Given the description of an element on the screen output the (x, y) to click on. 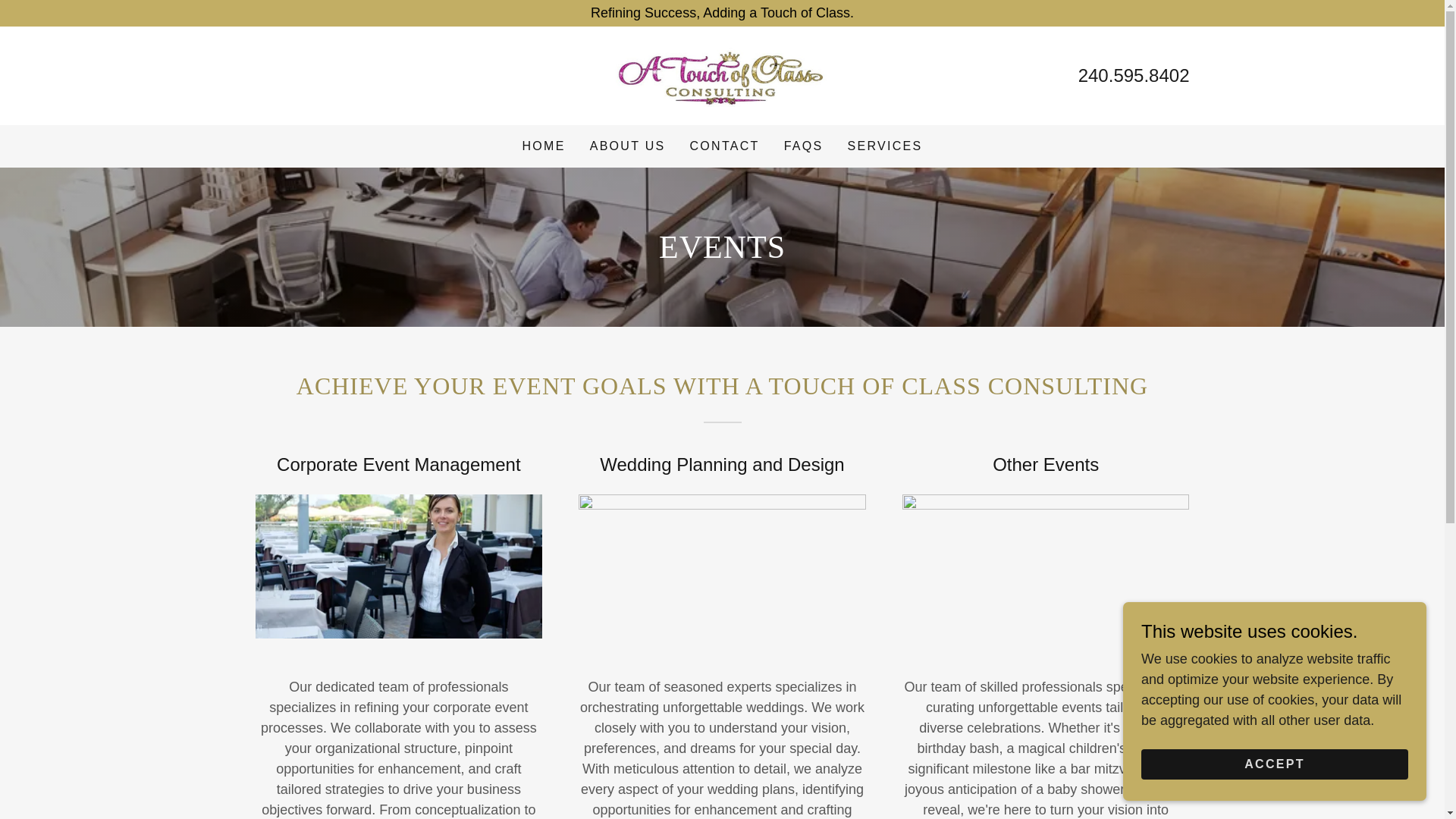
SERVICES (885, 145)
ABOUT US (627, 145)
240.595.8402 (1133, 75)
HOME (544, 145)
ACCEPT (1274, 764)
FAQS (803, 145)
CONTACT (724, 145)
A Touch of Class Consulting (721, 74)
